Given the description of an element on the screen output the (x, y) to click on. 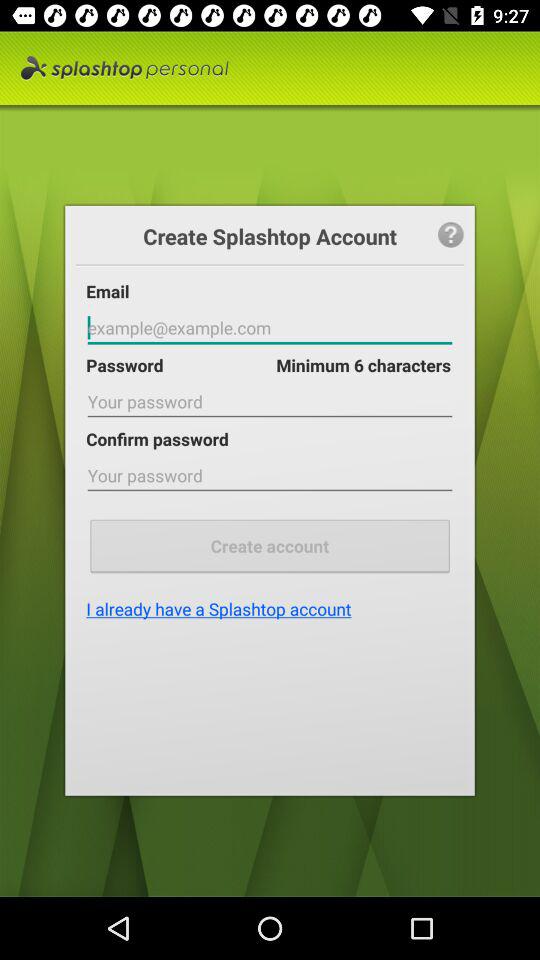
enter password (269, 401)
